Given the description of an element on the screen output the (x, y) to click on. 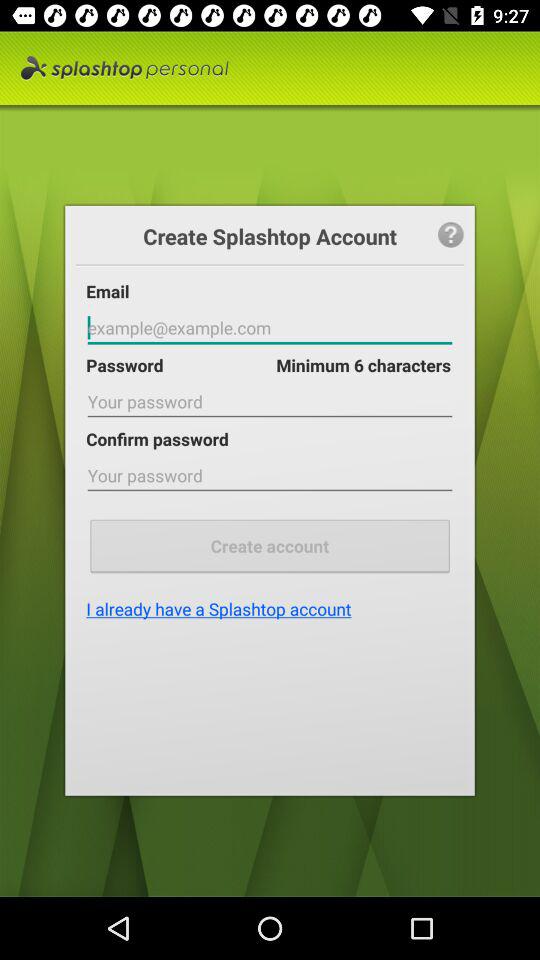
enter password (269, 401)
